Given the description of an element on the screen output the (x, y) to click on. 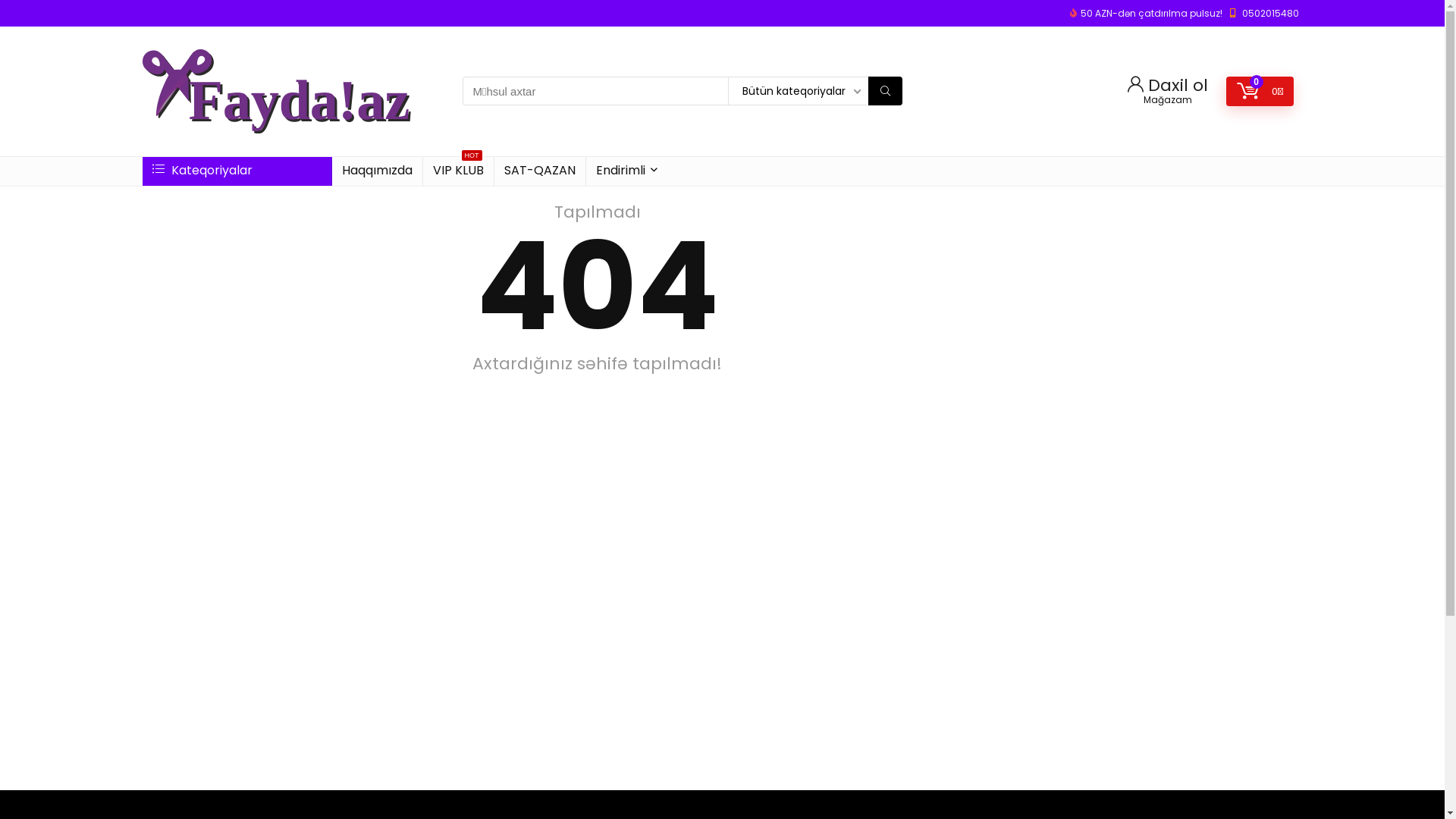
Kateqoriyalar Element type: text (236, 170)
0502015480 Element type: text (1270, 12)
Endirimli Element type: text (625, 170)
 Daxil ol Element type: text (1166, 85)
SAT-QAZAN Element type: text (539, 170)
HOT
VIP KLUB Element type: text (458, 170)
